Given the description of an element on the screen output the (x, y) to click on. 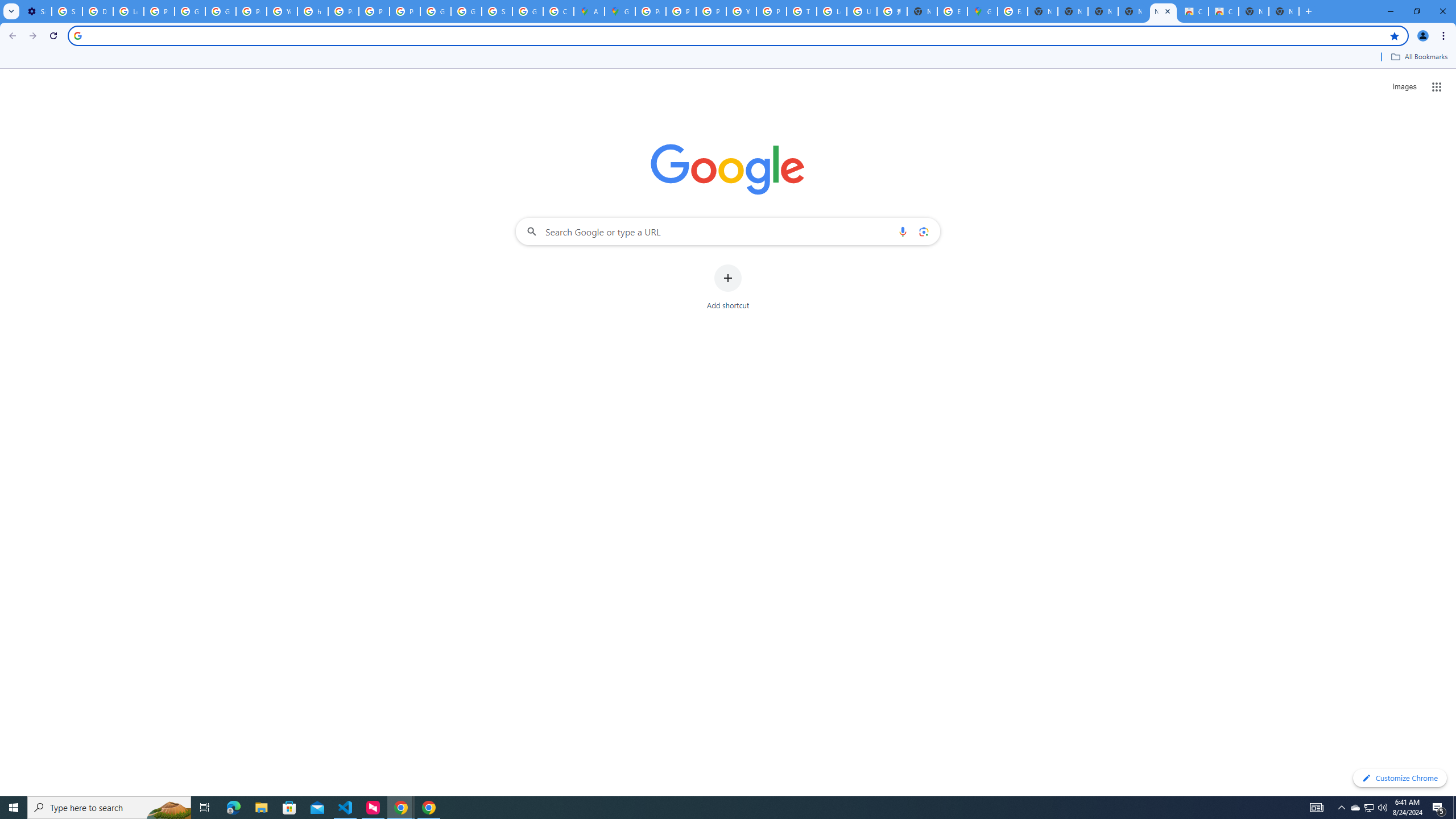
Privacy Help Center - Policies Help (343, 11)
Explore new street-level details - Google Maps Help (951, 11)
New Tab (922, 11)
Create your Google Account (558, 11)
